Given the description of an element on the screen output the (x, y) to click on. 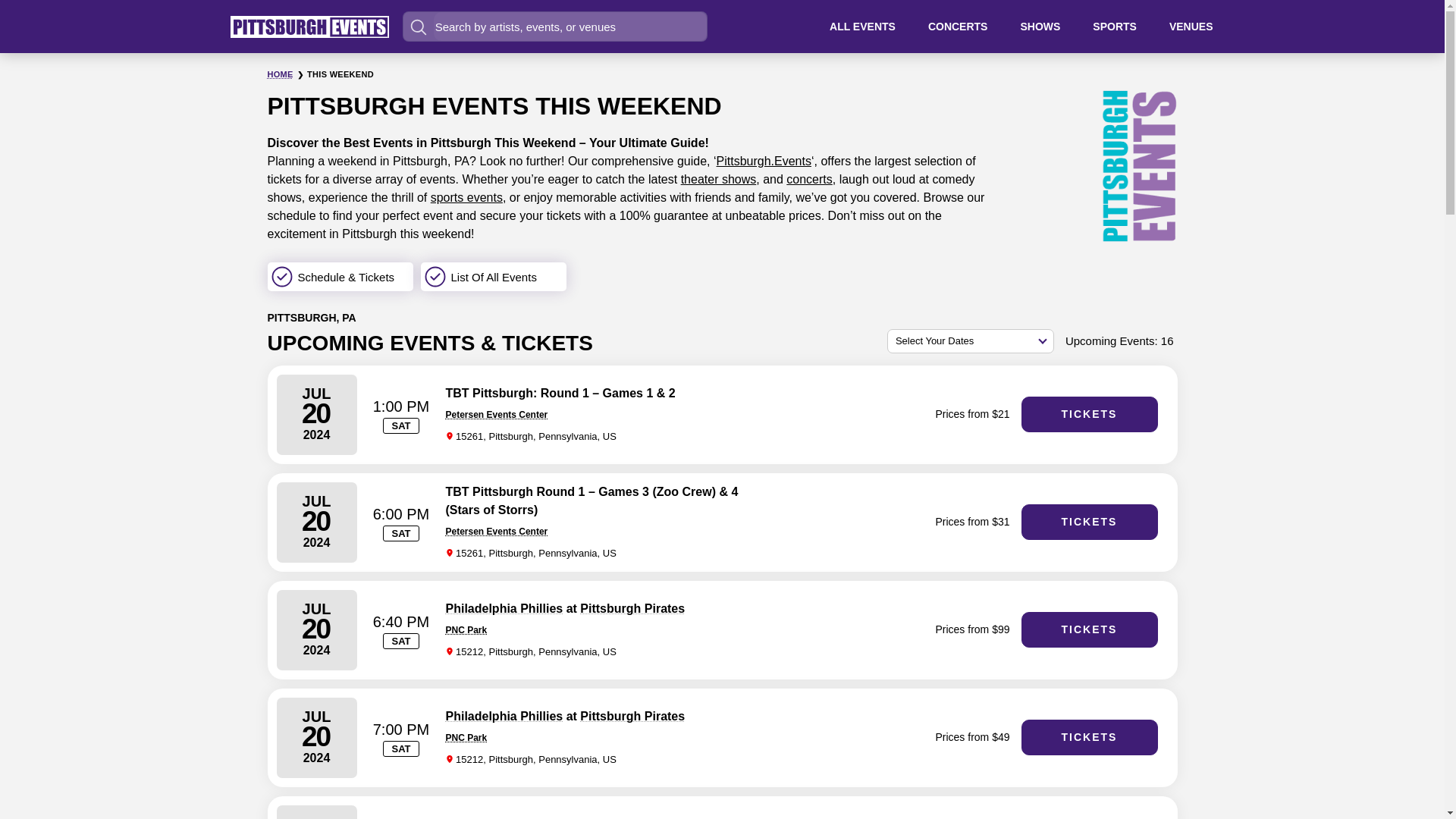
Pittsburgh Pirates (631, 608)
SHOWS (1039, 26)
TICKETS (1088, 414)
theater shows (719, 178)
VENUES (1190, 26)
sports events (466, 196)
ALL EVENTS (862, 26)
HOME (279, 73)
Pittsburgh Pirates (631, 716)
TICKETS (1088, 629)
Philadelphia Phillies (504, 716)
PNC Park (466, 737)
PNC Park (466, 629)
SPORTS (1115, 26)
Petersen Events Center (496, 414)
